Given the description of an element on the screen output the (x, y) to click on. 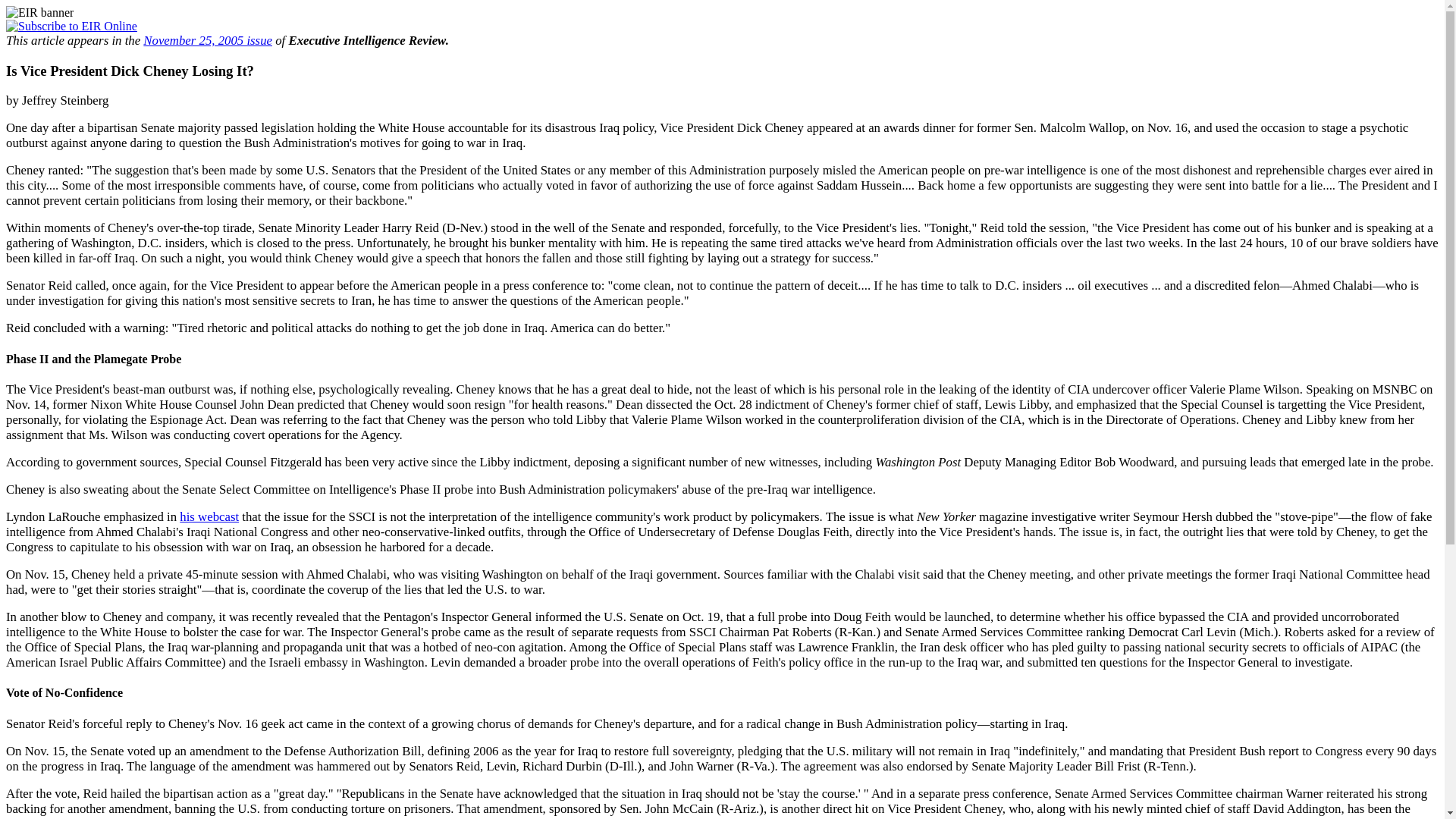
Subscribe to EIR Online (70, 26)
November 25, 2005 issue (207, 40)
his webcast (208, 516)
